Given the description of an element on the screen output the (x, y) to click on. 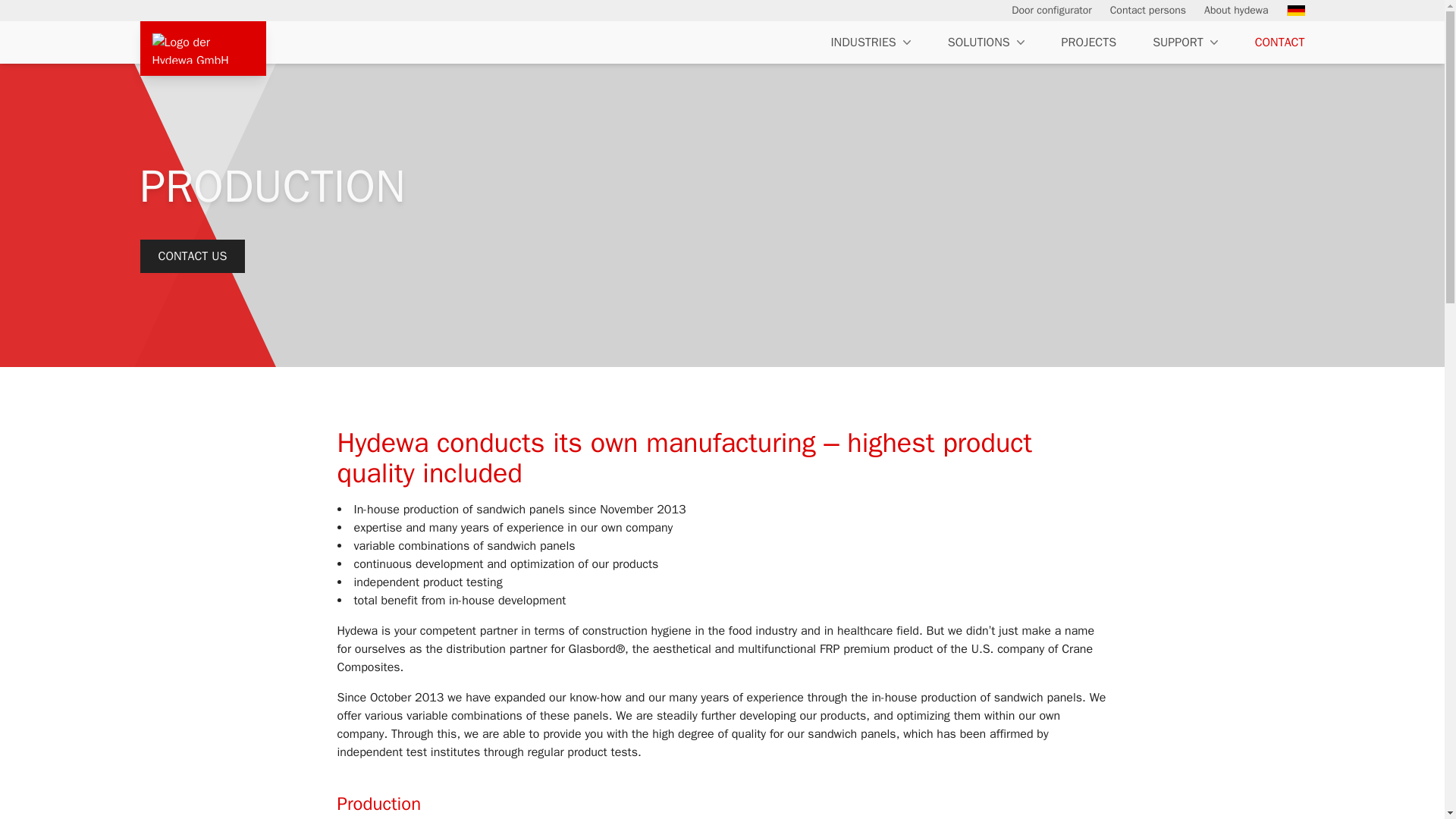
Zur Startseite auf deutsch (1290, 10)
SUPPORT (1187, 42)
Contact persons (1147, 10)
PROJECTS (1089, 42)
About hydewa (1235, 10)
SOLUTIONS (987, 42)
Hydewa GmbH (201, 48)
INDUSTRIES (871, 42)
Door configurator (1051, 10)
CONTACT (1270, 42)
